Given the description of an element on the screen output the (x, y) to click on. 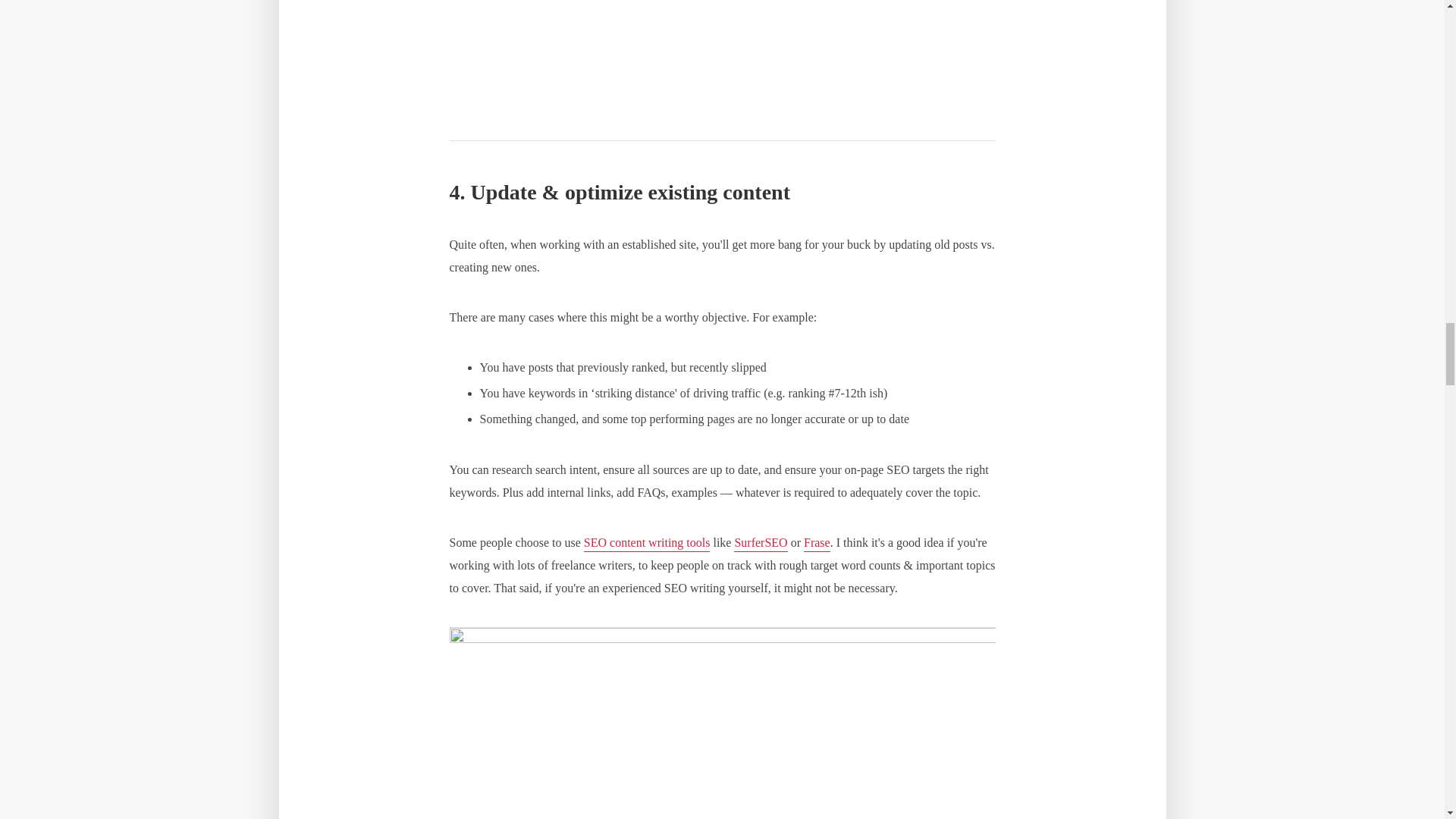
SurferSEO (760, 544)
Frase (816, 544)
SEO content writing tools (646, 544)
